Given the description of an element on the screen output the (x, y) to click on. 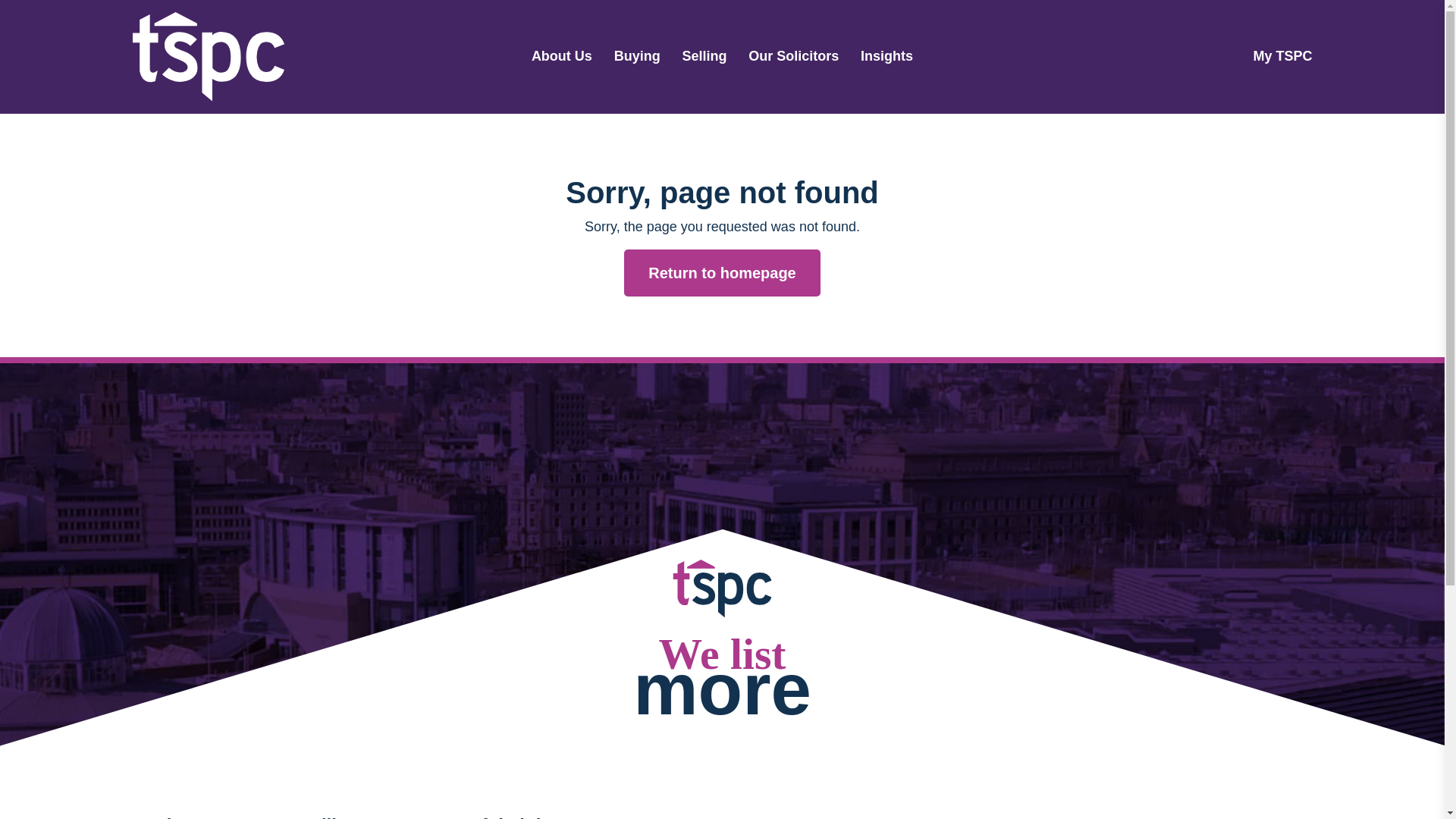
Insights (886, 55)
About Us (561, 55)
My TSPC (1281, 55)
Selling (703, 55)
Return to homepage (721, 272)
Buying (637, 55)
Our Solicitors (793, 55)
